Given the description of an element on the screen output the (x, y) to click on. 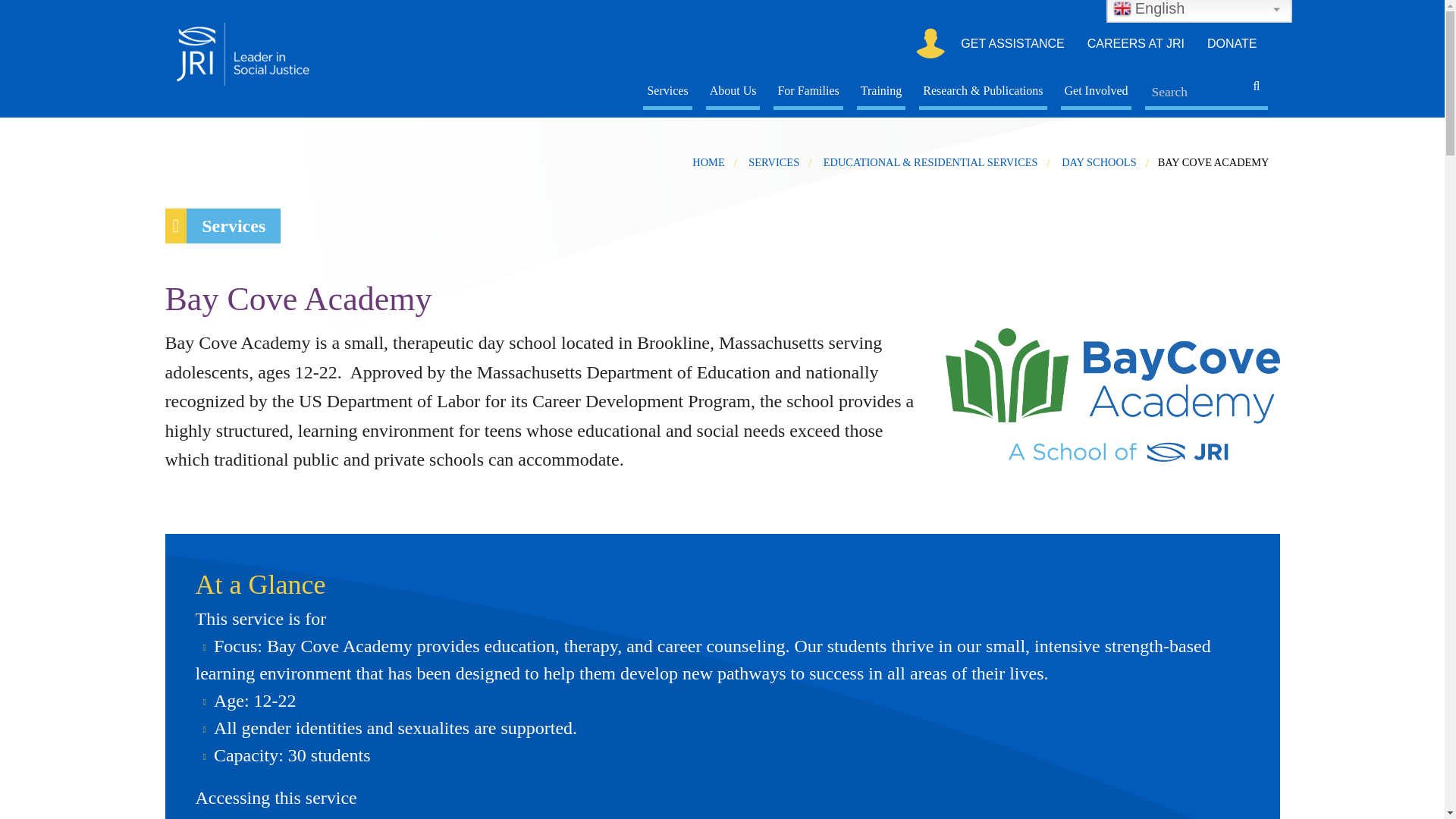
DONATE (1231, 43)
CAREERS AT JRI (1135, 43)
JRI Leader in Social Justice (257, 52)
Search (1261, 91)
English (1168, 6)
JRI's Annual Reports (733, 399)
Services (667, 92)
GET ASSISTANCE (1012, 43)
